Given the description of an element on the screen output the (x, y) to click on. 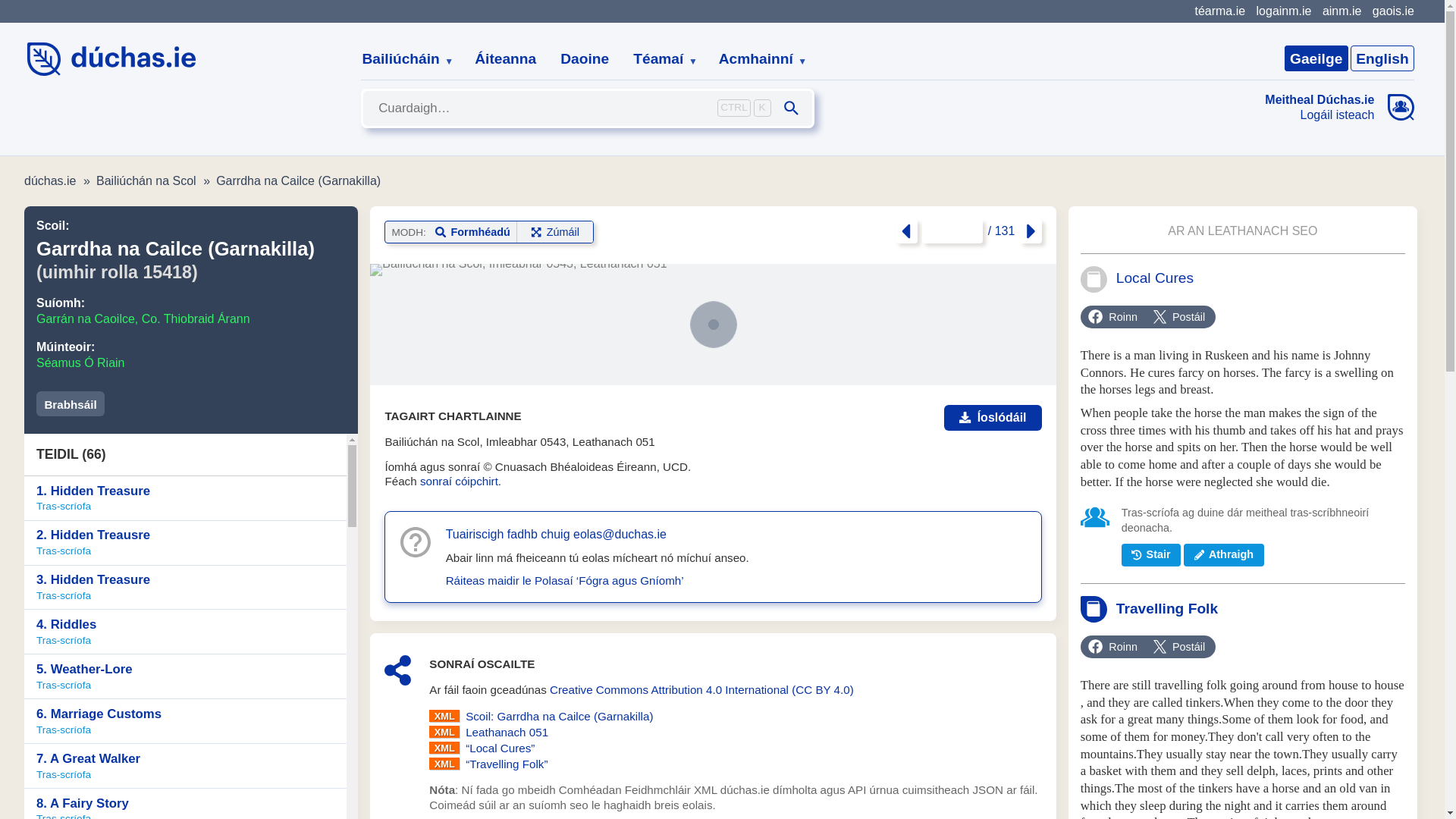
Gaeilge (1316, 58)
ainm.ie (1341, 11)
Daoine (584, 58)
gaois.ie (1393, 11)
English (1382, 58)
logainm.ie (1283, 11)
